Given the description of an element on the screen output the (x, y) to click on. 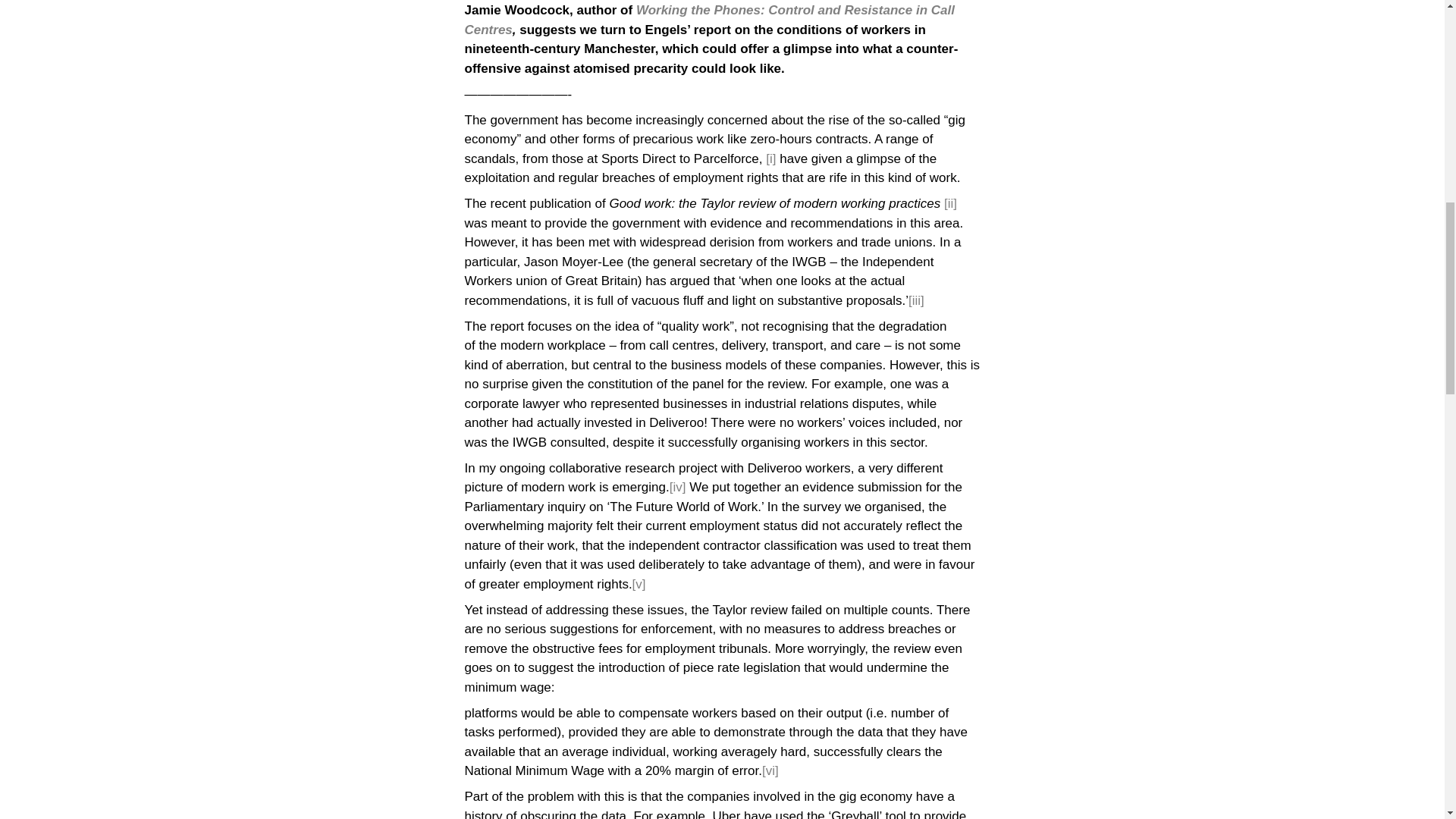
Working the Phones: Control and Resistance in Call Centres (708, 19)
